Given the description of an element on the screen output the (x, y) to click on. 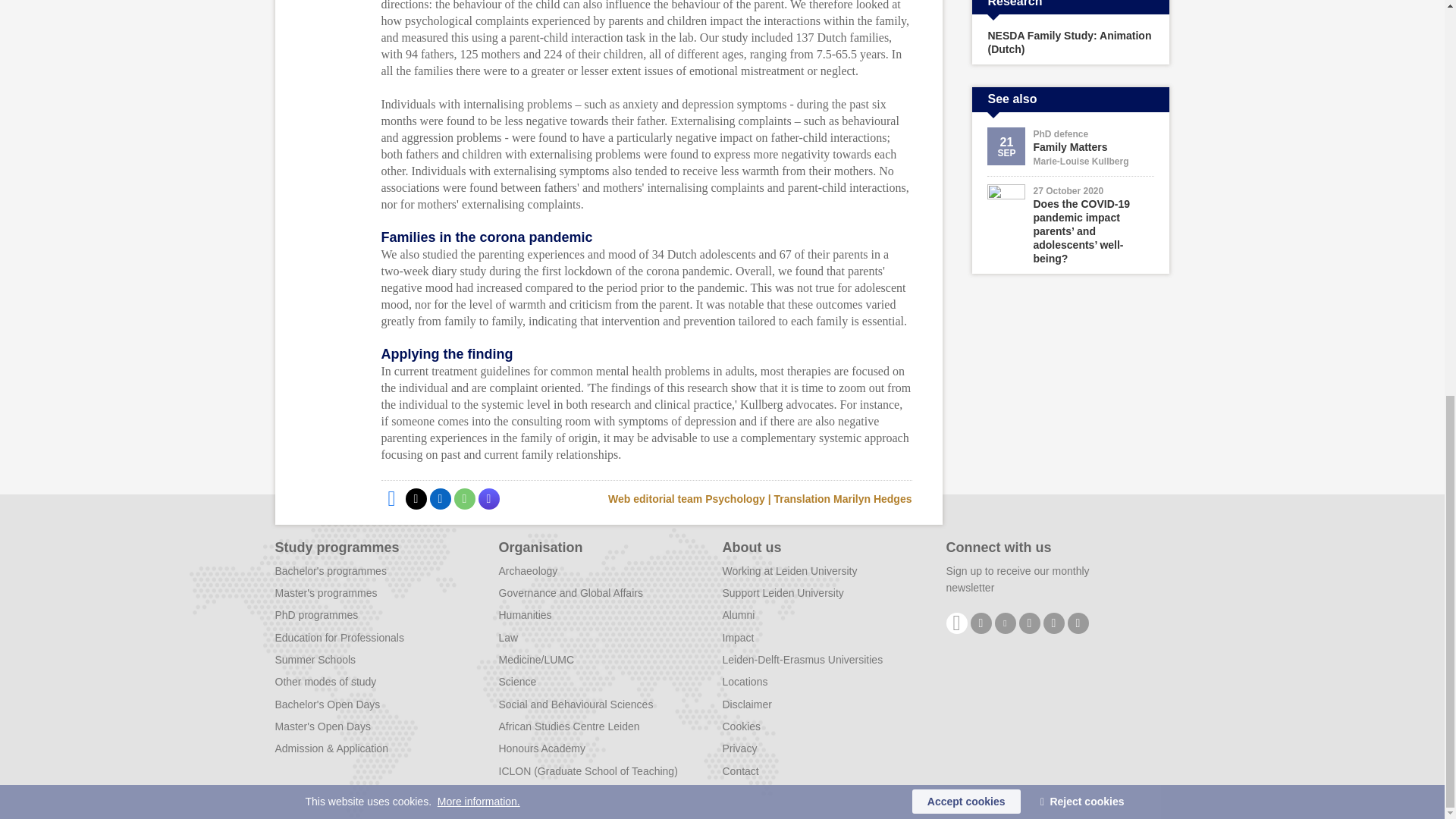
Share by WhatsApp (463, 498)
Share on Facebook (390, 498)
Share on LinkedIn (439, 498)
September (1006, 153)
Share on X (415, 498)
Share by Mastodon (488, 498)
